Given the description of an element on the screen output the (x, y) to click on. 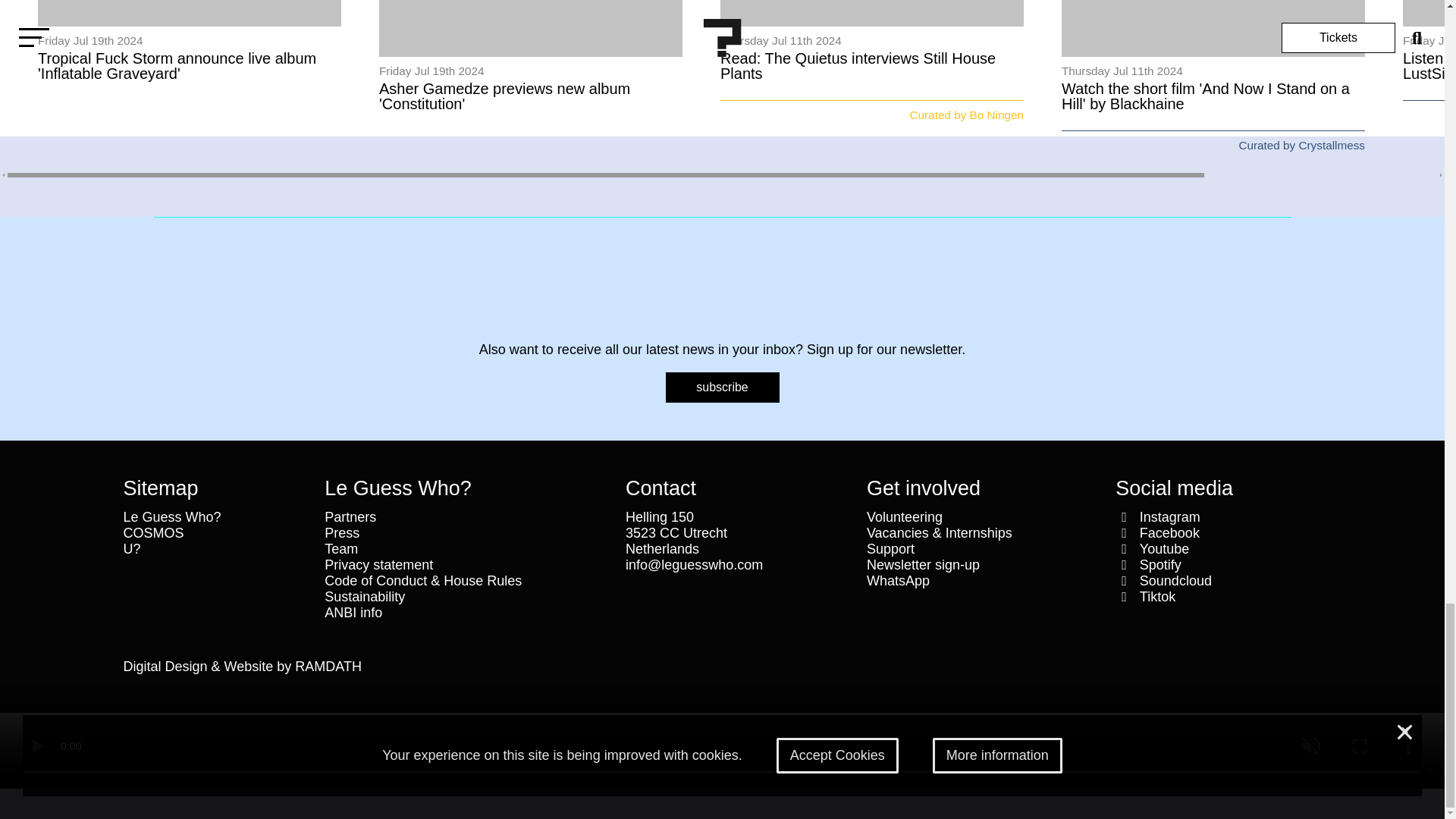
Asher Gamedze previews new album 'Constitution' (504, 96)
